Given the description of an element on the screen output the (x, y) to click on. 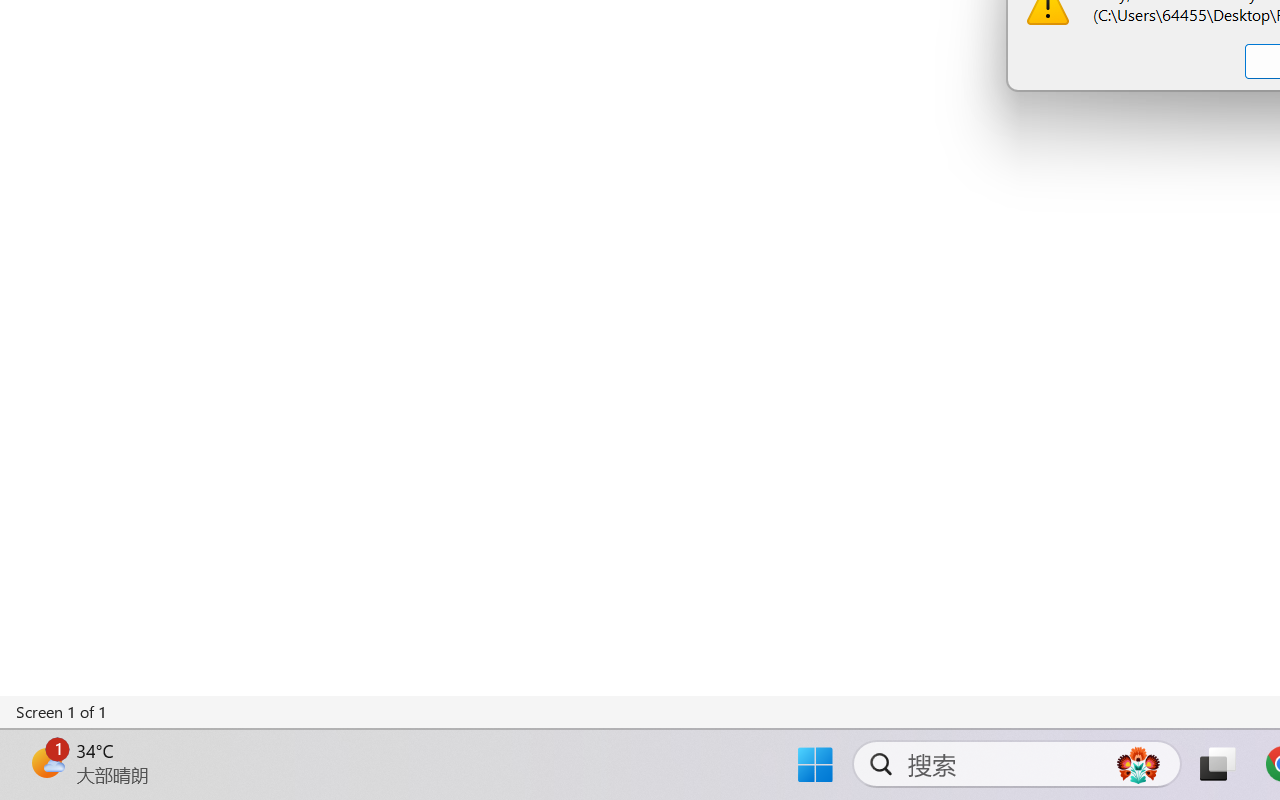
AutomationID: DynamicSearchBoxGleamImage (1138, 764)
Page Number Screen 1 of 1  (62, 712)
AutomationID: BadgeAnchorLargeTicker (46, 762)
